Given the description of an element on the screen output the (x, y) to click on. 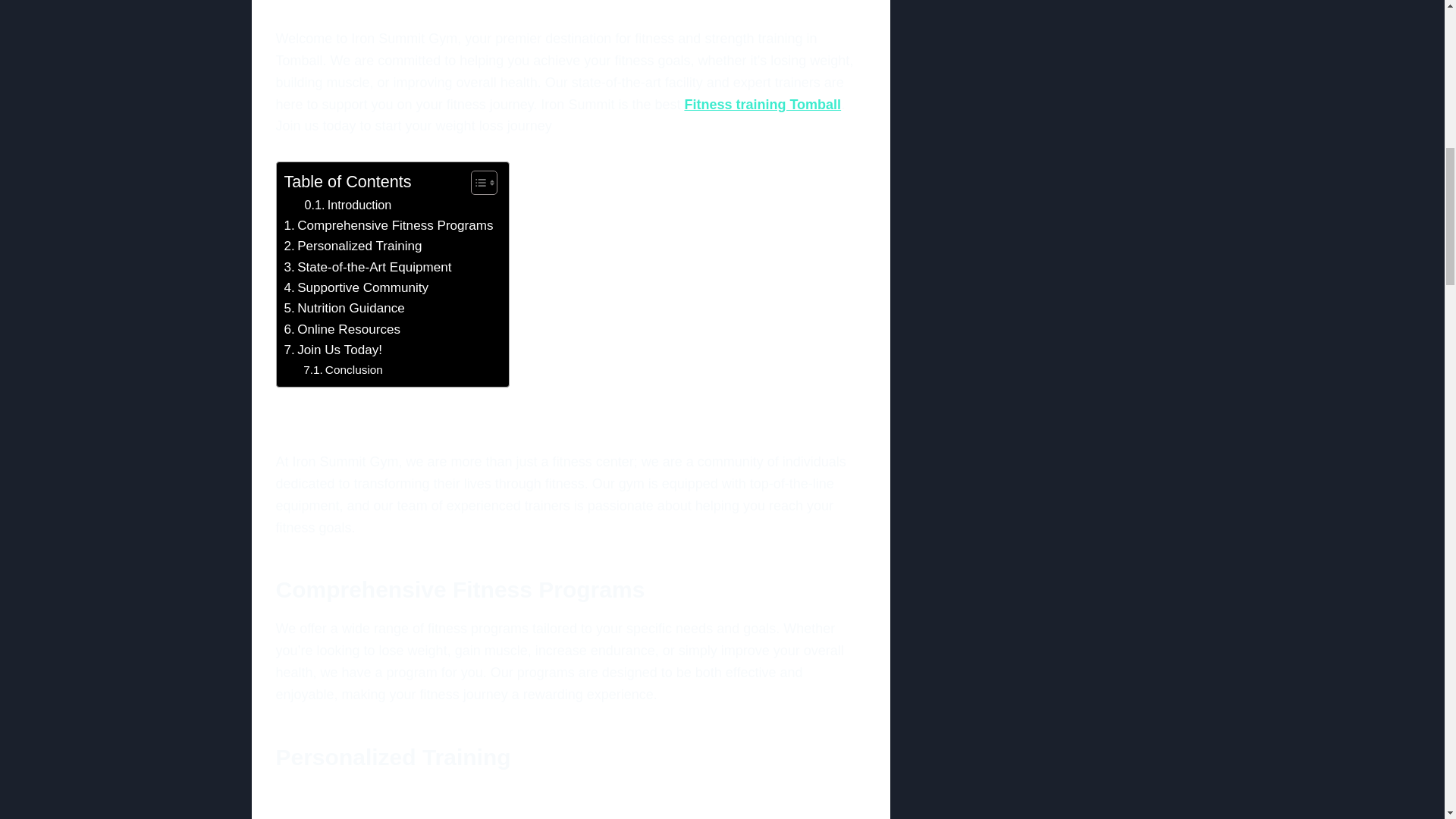
Join Us Today! (332, 349)
Online Resources (341, 329)
Introduction (347, 205)
Personalized Training (352, 245)
Tomball'S Best Fitness Training Get Fit Today (389, 2)
Comprehensive Fitness Programs (388, 225)
Comprehensive Fitness Programs (388, 225)
Nutrition Guidance (343, 308)
Conclusion (342, 370)
Conclusion (342, 370)
